Given the description of an element on the screen output the (x, y) to click on. 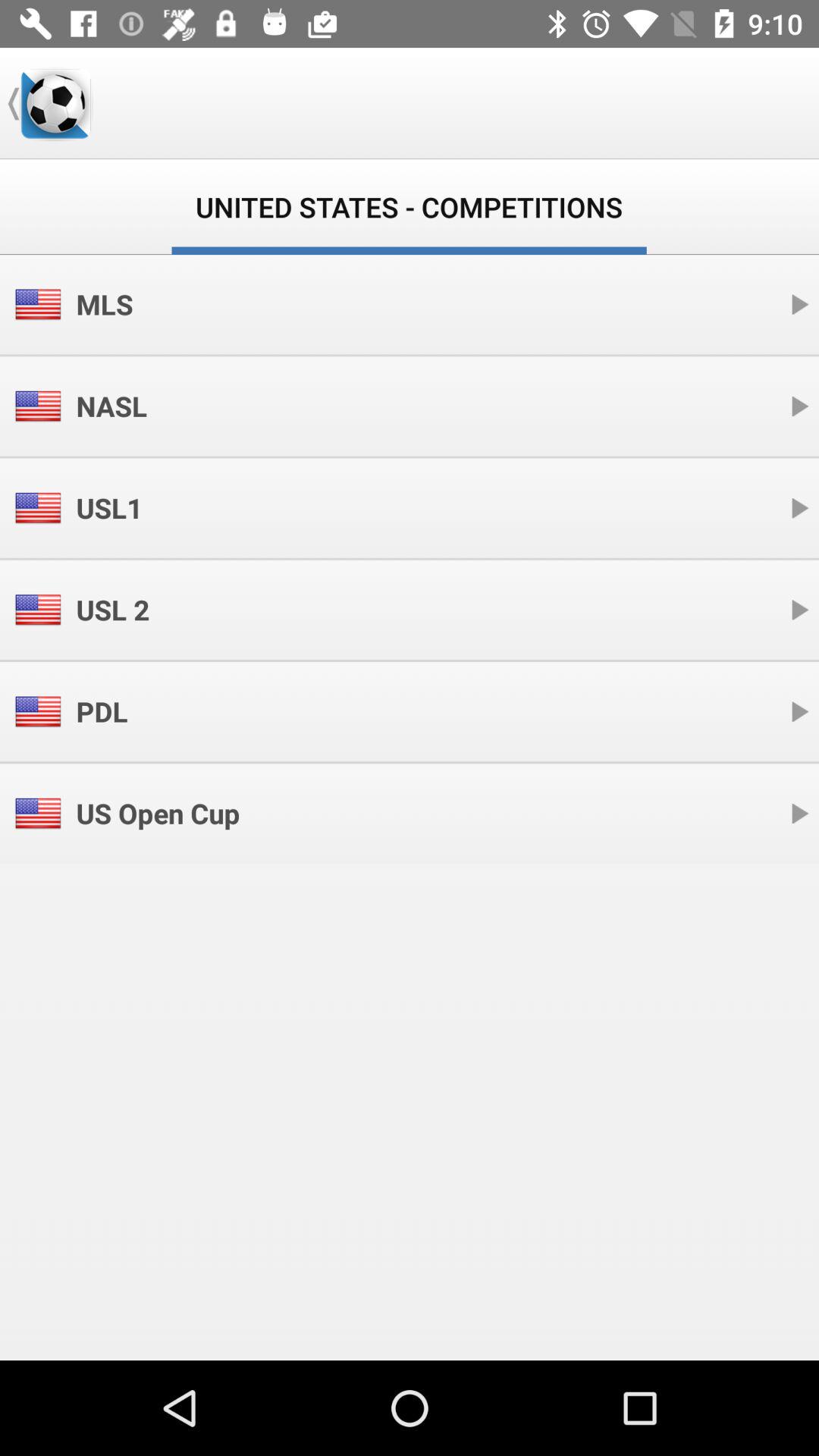
swipe until usl1 icon (109, 507)
